Given the description of an element on the screen output the (x, y) to click on. 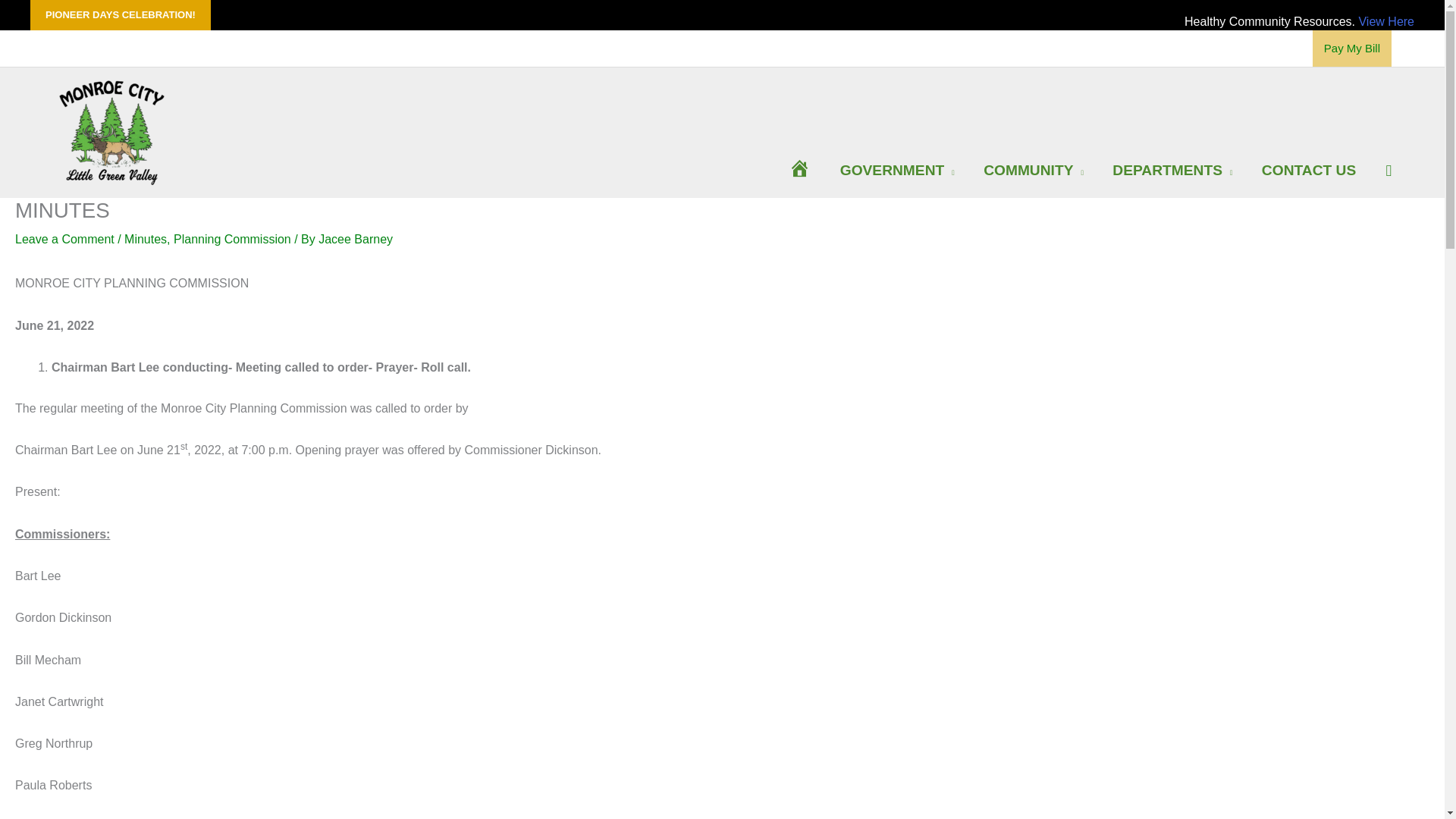
PIONEER DAYS CELEBRATION! (112, 15)
COMMUNITY (1033, 170)
DEPARTMENTS (1172, 170)
HOME (799, 170)
Pay My Bill (1352, 48)
View Here (1385, 21)
View all posts by Jacee Barney (355, 238)
GOVERNMENT (897, 170)
